Given the description of an element on the screen output the (x, y) to click on. 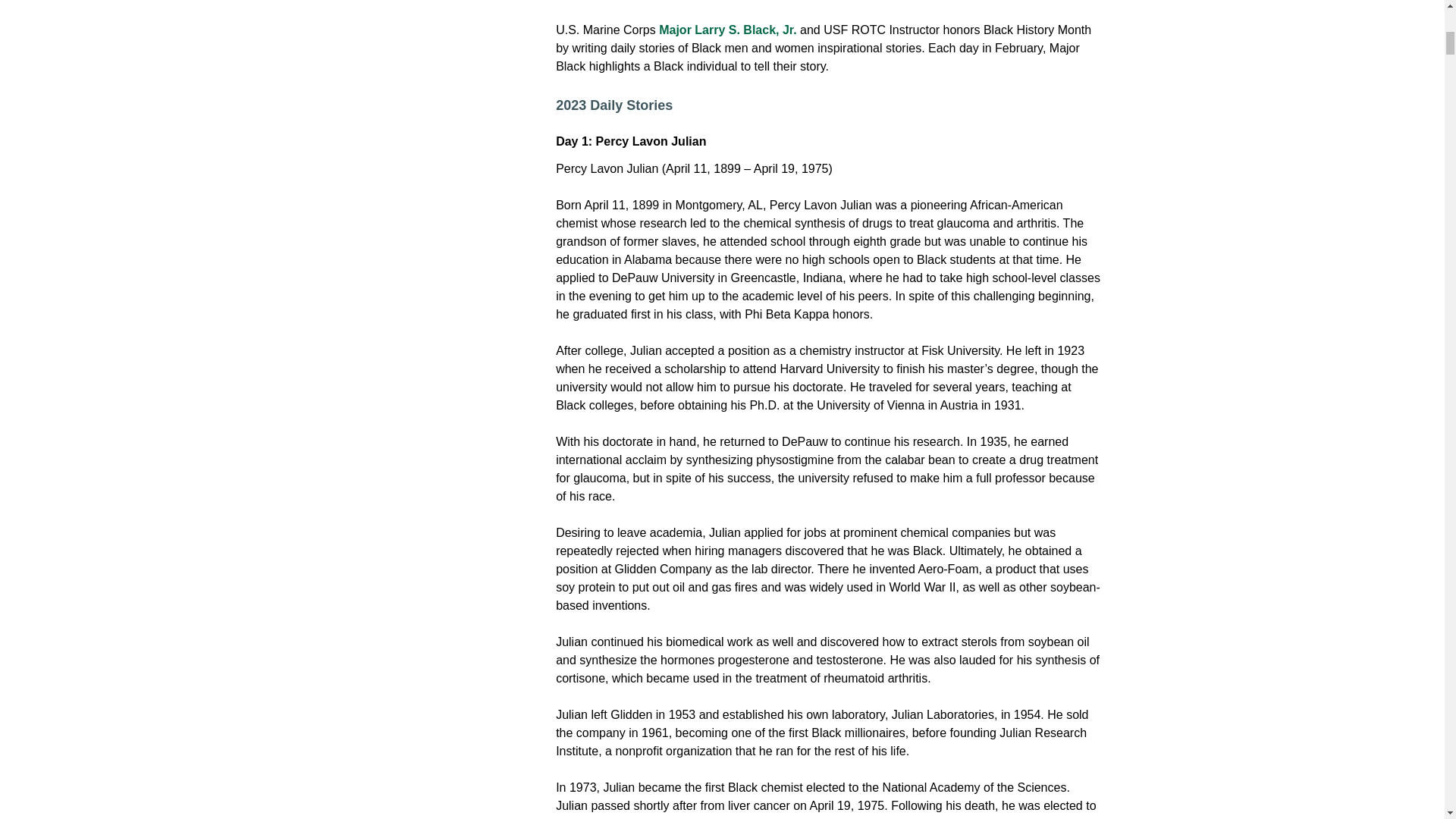
Major Larry S. Black, Jr. (729, 29)
Major Larry S. Black, Jr.  (729, 29)
